Given the description of an element on the screen output the (x, y) to click on. 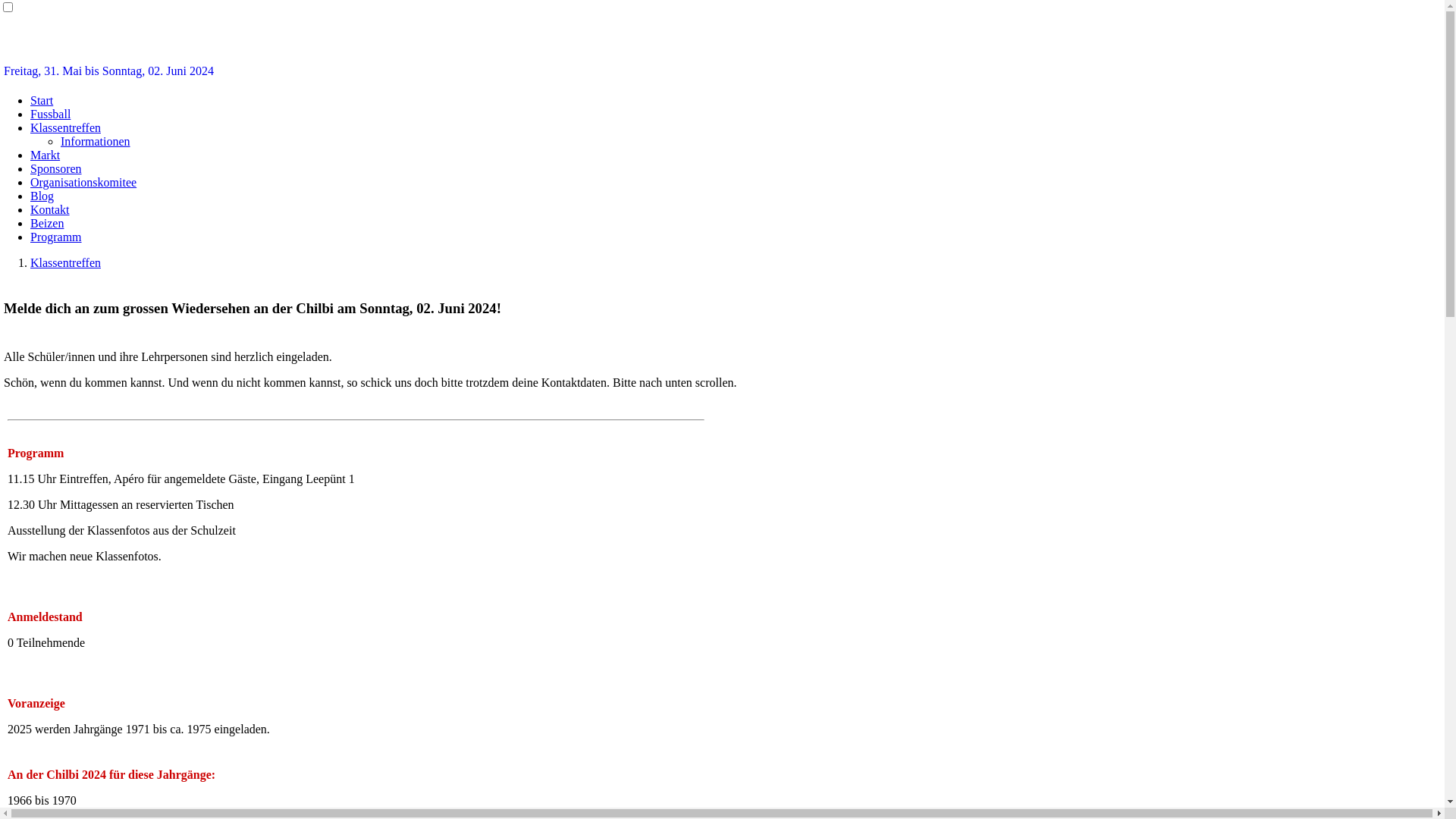
Start Element type: text (41, 100)
Programm Element type: text (55, 236)
Markt Element type: text (44, 154)
Klassentreffen Element type: text (65, 127)
Klassentreffen Element type: text (65, 262)
Blog Element type: text (41, 195)
Beizen Element type: text (46, 222)
Sponsoren Element type: text (55, 168)
Informationen Element type: text (95, 140)
Fussball Element type: text (50, 113)
Freitag, 31. Mai bis Sonntag, 02. Juni 2024 Element type: text (108, 70)
Kontakt Element type: text (49, 209)
Organisationskomitee Element type: text (83, 181)
